Given the description of an element on the screen output the (x, y) to click on. 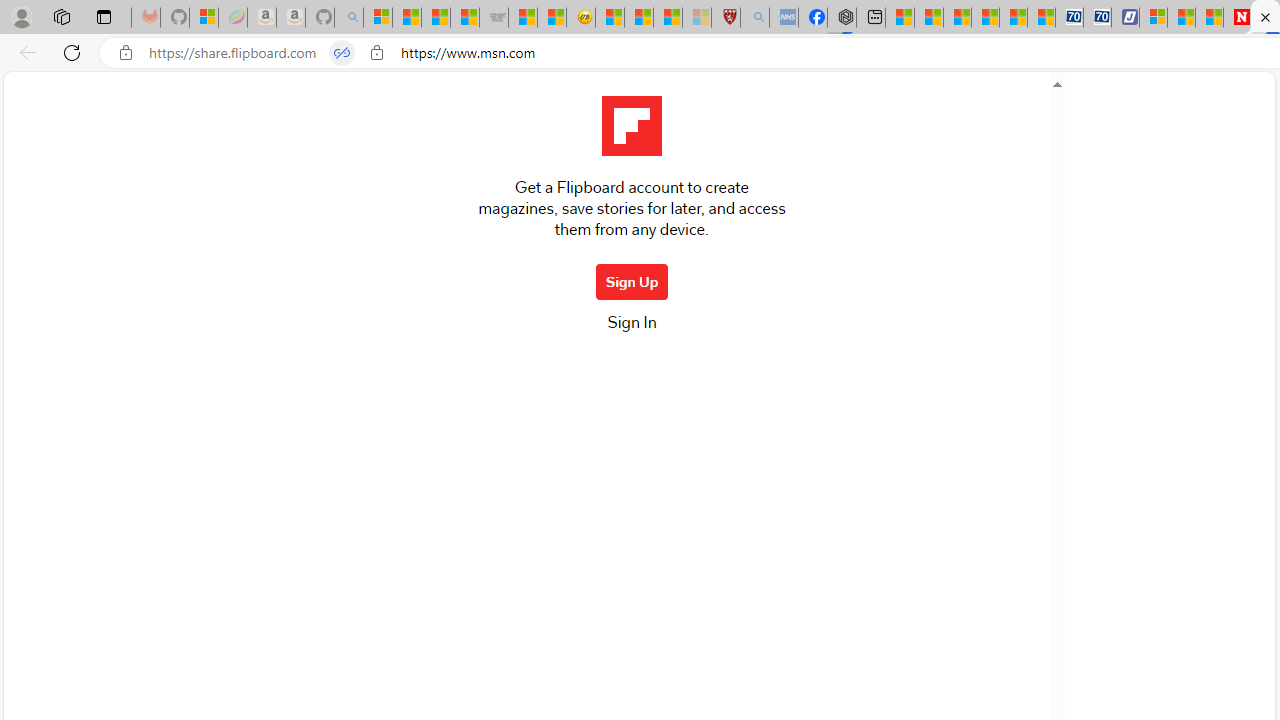
Newsweek - News, Analysis, Politics, Business, Technology (1236, 17)
Microsoft account | Privacy (1153, 17)
Nordace - Nordace Siena Is Not An Ordinary Backpack (842, 17)
Robert H. Shmerling, MD - Harvard Health (725, 17)
Class: logo (631, 125)
Sign Up (632, 282)
list of asthma inhalers uk - Search - Sleeping (755, 17)
